Given the description of an element on the screen output the (x, y) to click on. 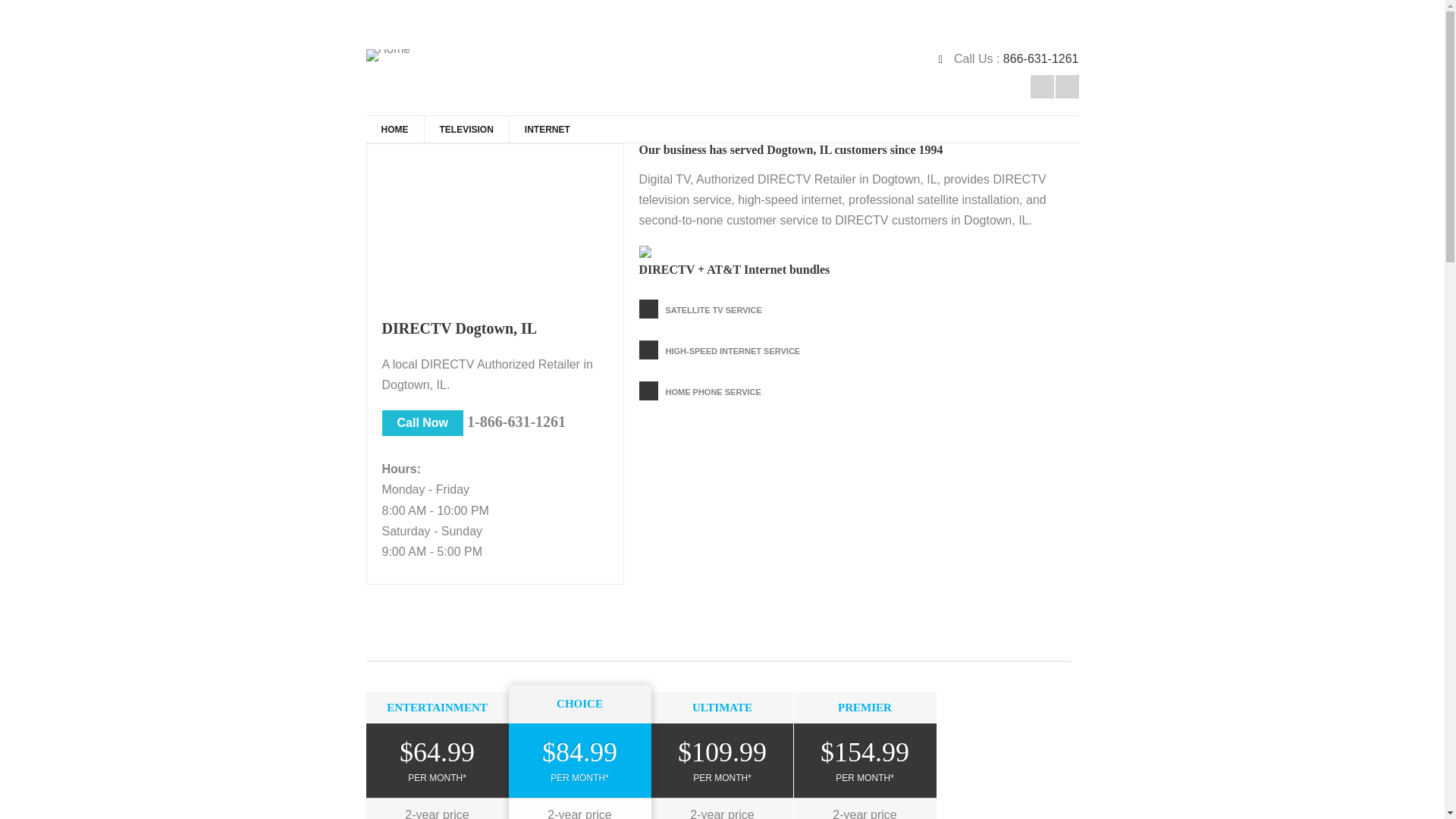
HOME (394, 129)
SATELLITE TV SERVICE (713, 309)
HIGH-SPEED INTERNET SERVICE (732, 350)
TELEVISION (465, 129)
Home (387, 55)
Twitter (1040, 86)
HOME PHONE SERVICE (713, 391)
INTERNET (546, 129)
Call Now (422, 422)
1-866-631-1261 (516, 421)
